Given the description of an element on the screen output the (x, y) to click on. 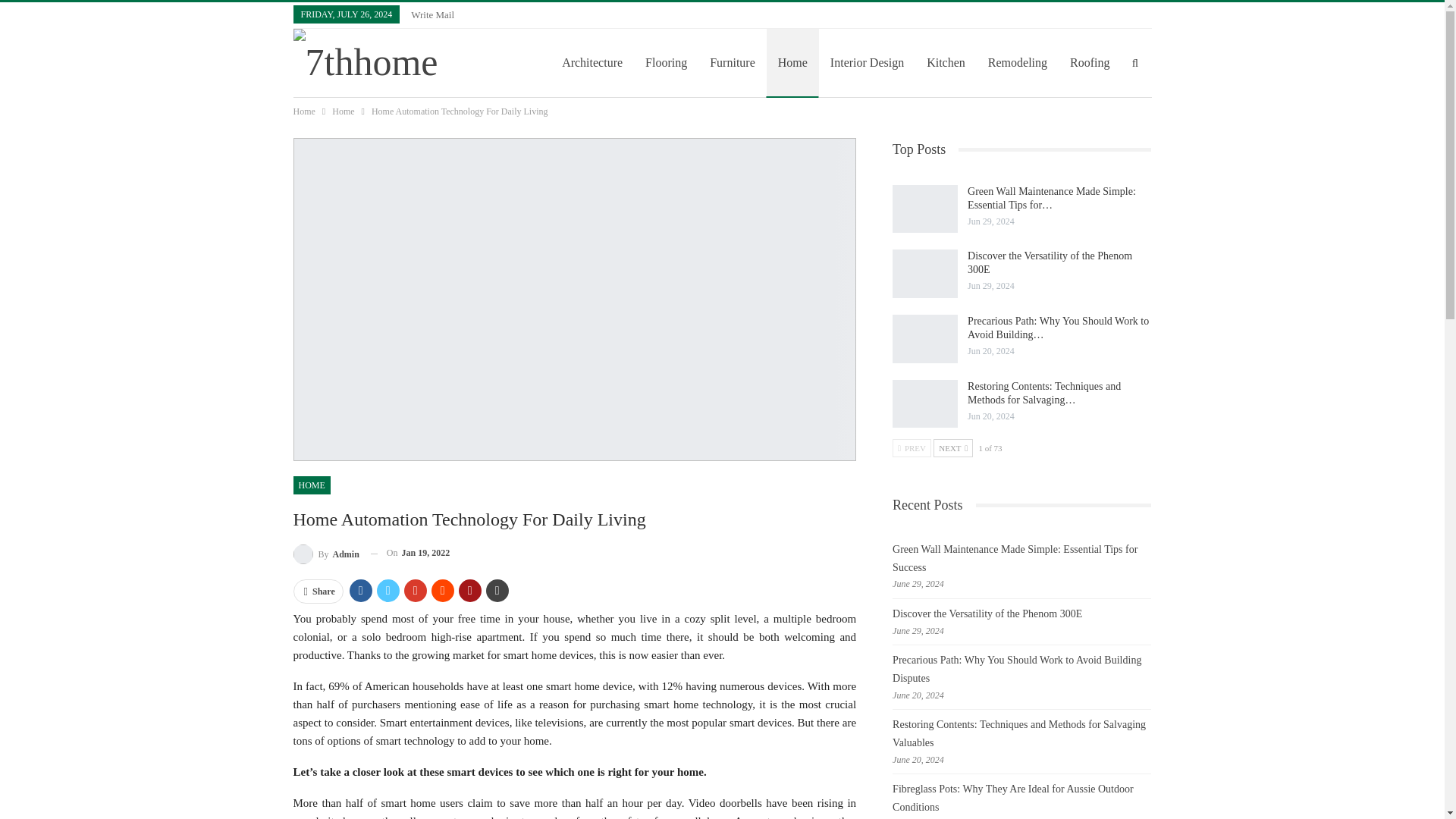
Flooring (665, 62)
Write Mail (432, 14)
Roofing (1089, 62)
Interior Design (866, 62)
By Admin (325, 552)
Home (342, 111)
Furniture (732, 62)
Remodeling (1017, 62)
Architecture (591, 62)
Kitchen (945, 62)
HOME (311, 484)
Home (303, 111)
Browse Author Articles (325, 552)
